Given the description of an element on the screen output the (x, y) to click on. 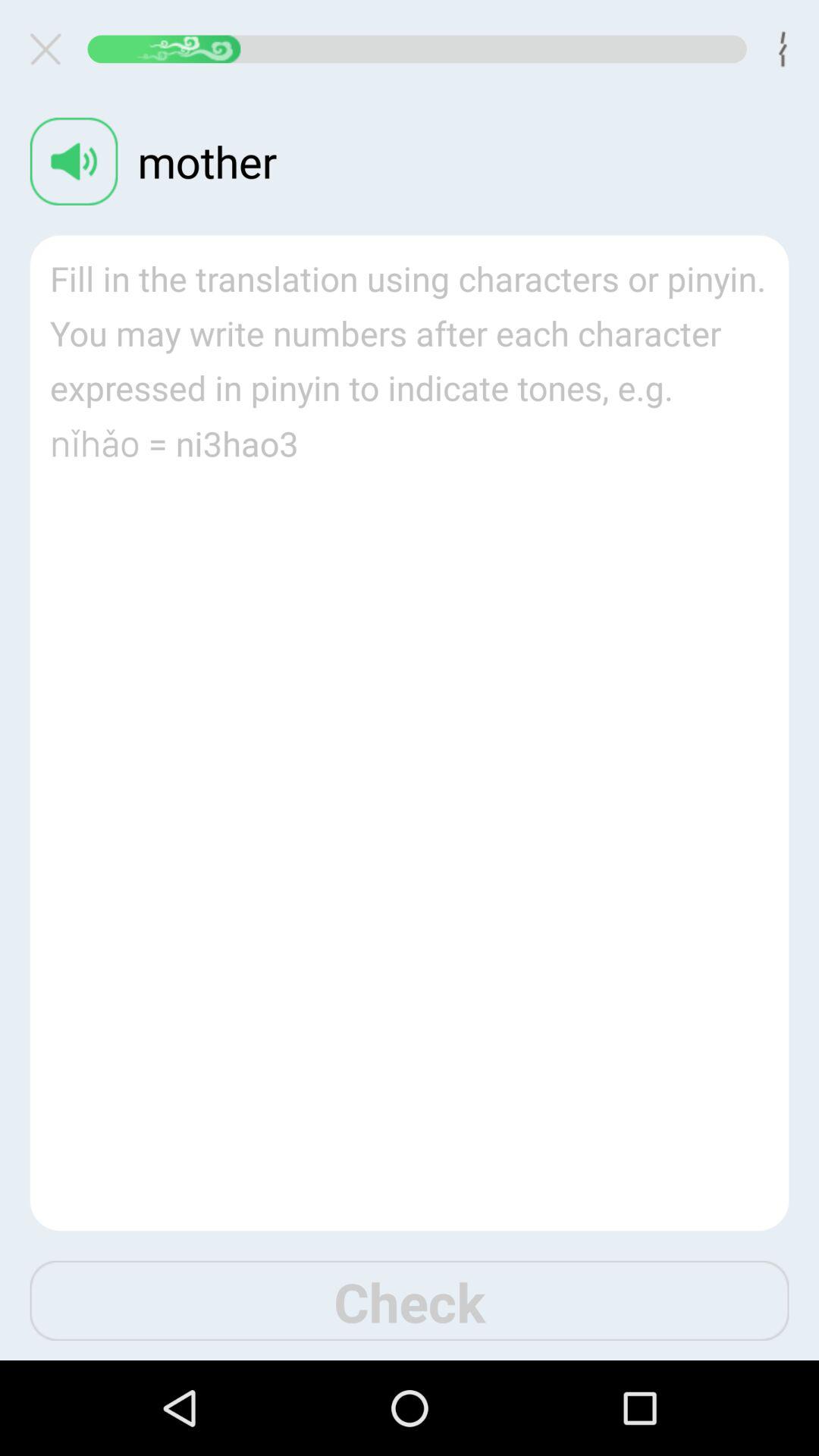
close the window (51, 49)
